Given the description of an element on the screen output the (x, y) to click on. 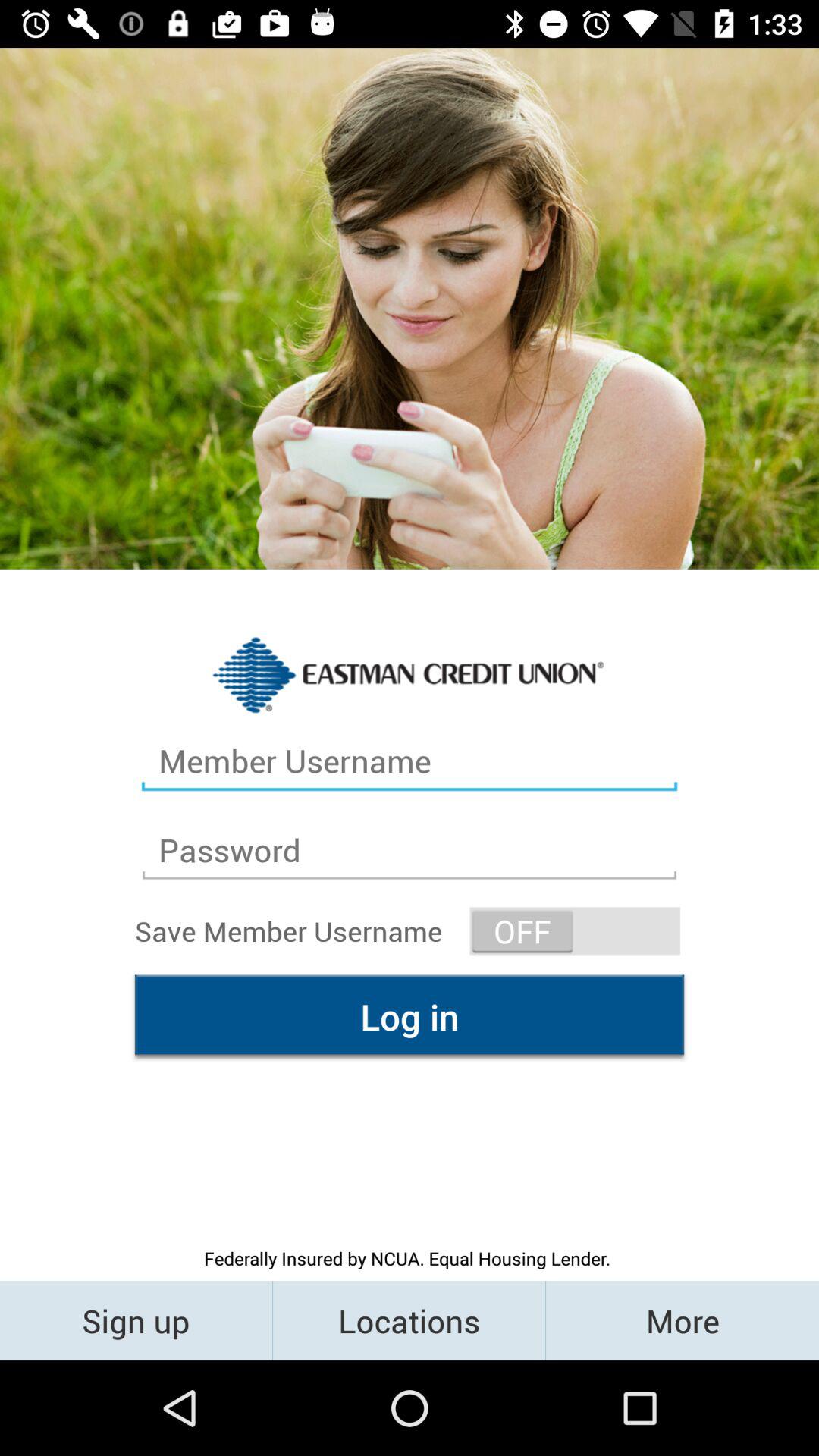
flip until the log in icon (409, 1016)
